Given the description of an element on the screen output the (x, y) to click on. 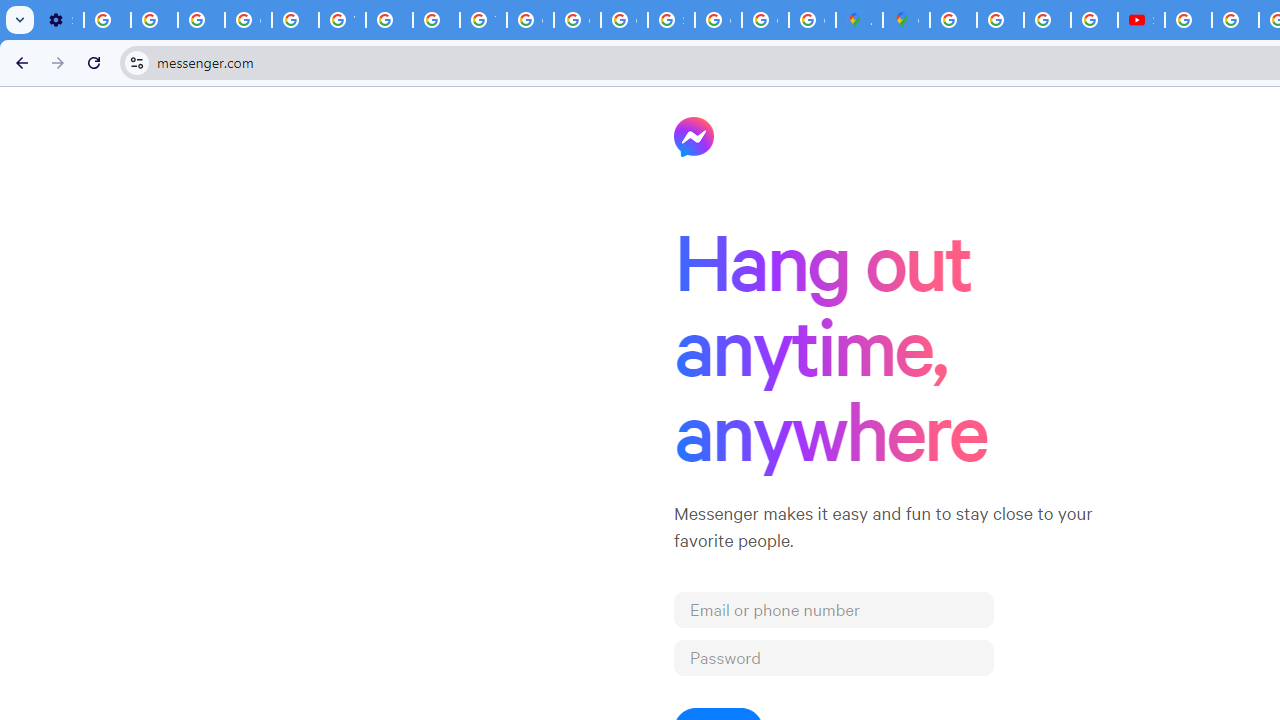
Delete photos & videos - Computer - Google Photos Help (107, 20)
Settings - Customize profile (60, 20)
How Chrome protects your passwords - Google Chrome Help (1188, 20)
